Given the description of an element on the screen output the (x, y) to click on. 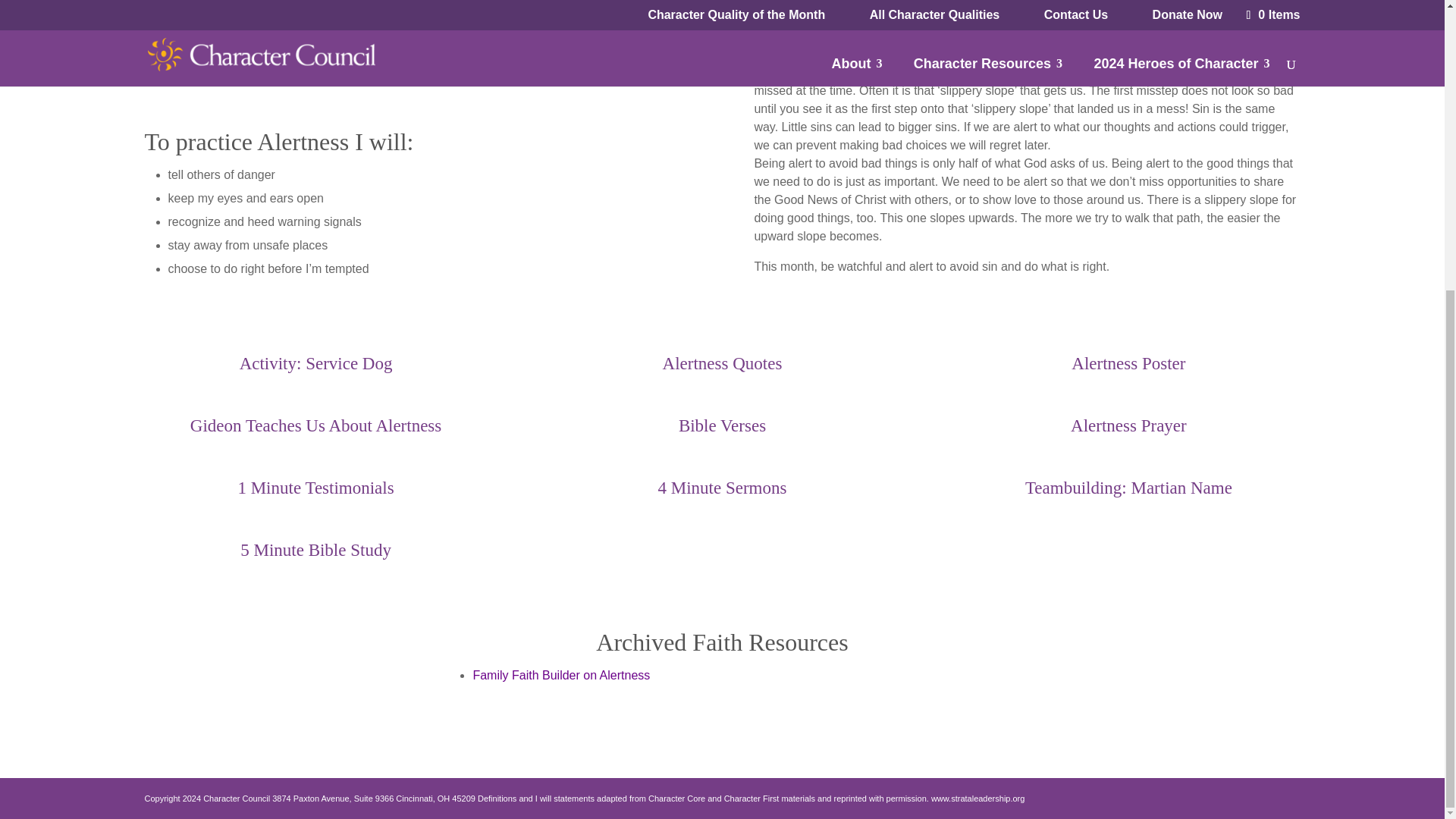
Activity: Service Dog (316, 363)
Teambuilding: Martian Name (1128, 487)
Alertness Quotes (722, 363)
Alertness Prayer (1128, 425)
4 Minute Sermons (722, 487)
Bible Verses (721, 425)
5 Minute Bible Study (315, 549)
Family Faith Builder on Alertness (560, 675)
Alertness Poster (1128, 363)
Gideon Teaches Us About Alertness (315, 425)
